Given the description of an element on the screen output the (x, y) to click on. 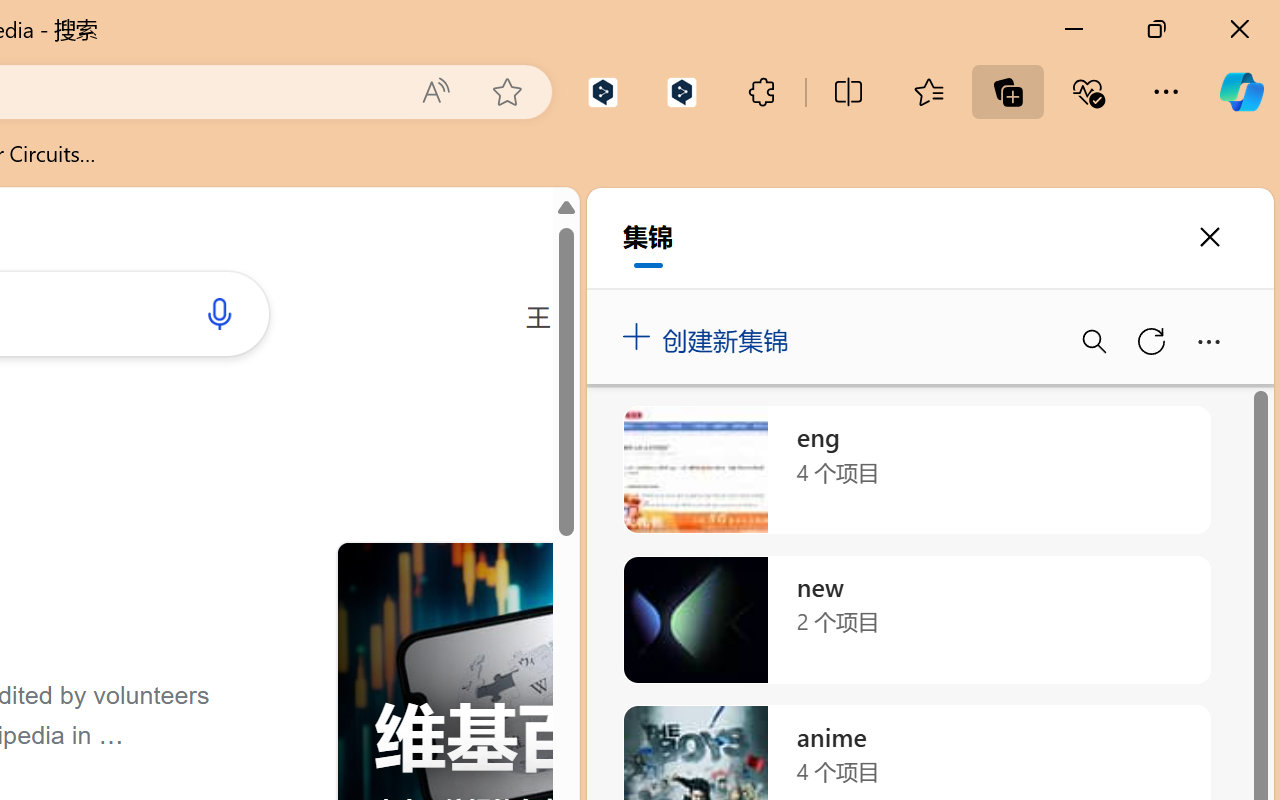
Copilot (Ctrl+Shift+.) (1241, 91)
